Given the description of an element on the screen output the (x, y) to click on. 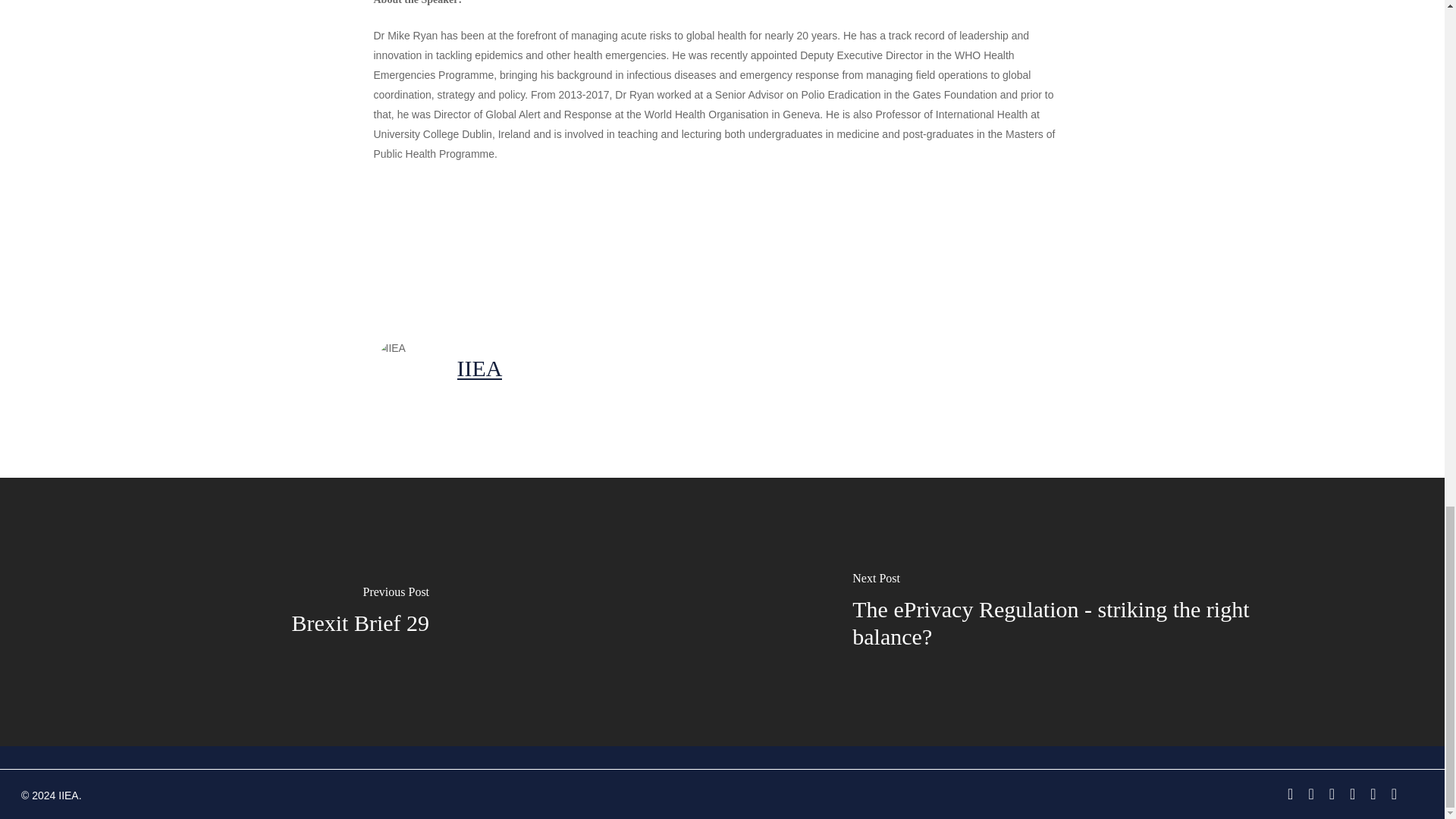
Share this (604, 246)
Share (604, 246)
Tweet (510, 246)
Pin this (692, 246)
Pin (692, 246)
Share (414, 246)
IIEA (479, 367)
Share this (414, 246)
Tweet this (510, 246)
